Given the description of an element on the screen output the (x, y) to click on. 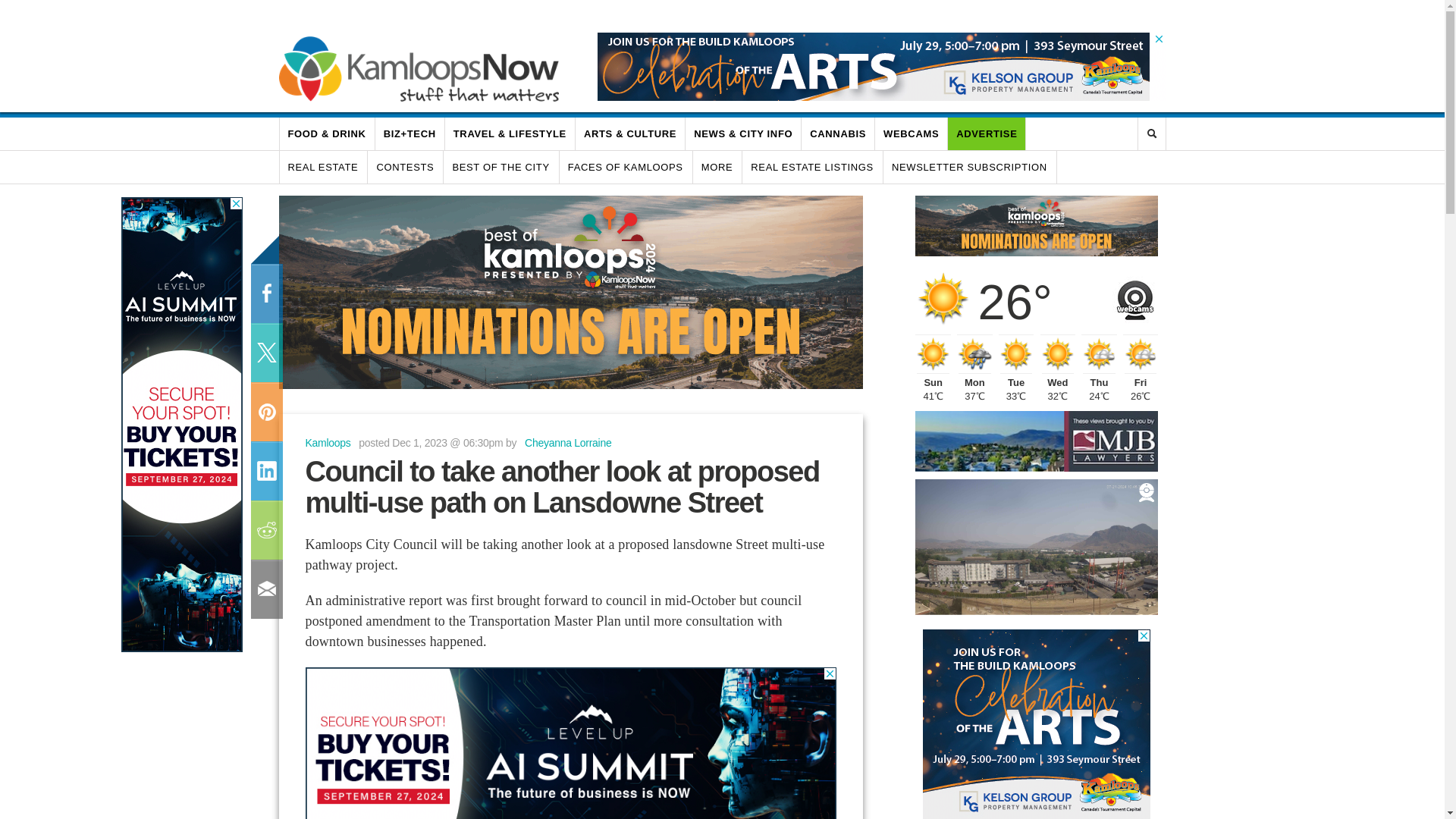
weather-icon (973, 353)
Share on Reddit (266, 529)
Share on Twitter (266, 352)
weather-icon (1015, 353)
KamloopsBCNow (419, 68)
3rd party ad content (569, 743)
3rd party ad content (571, 292)
Share on Facebook (266, 293)
weather-icon (932, 353)
Share with email (266, 588)
Weather (943, 297)
Share on Pintrest (266, 411)
3rd party ad content (873, 66)
Share on LinkedIn (266, 470)
